Given the description of an element on the screen output the (x, y) to click on. 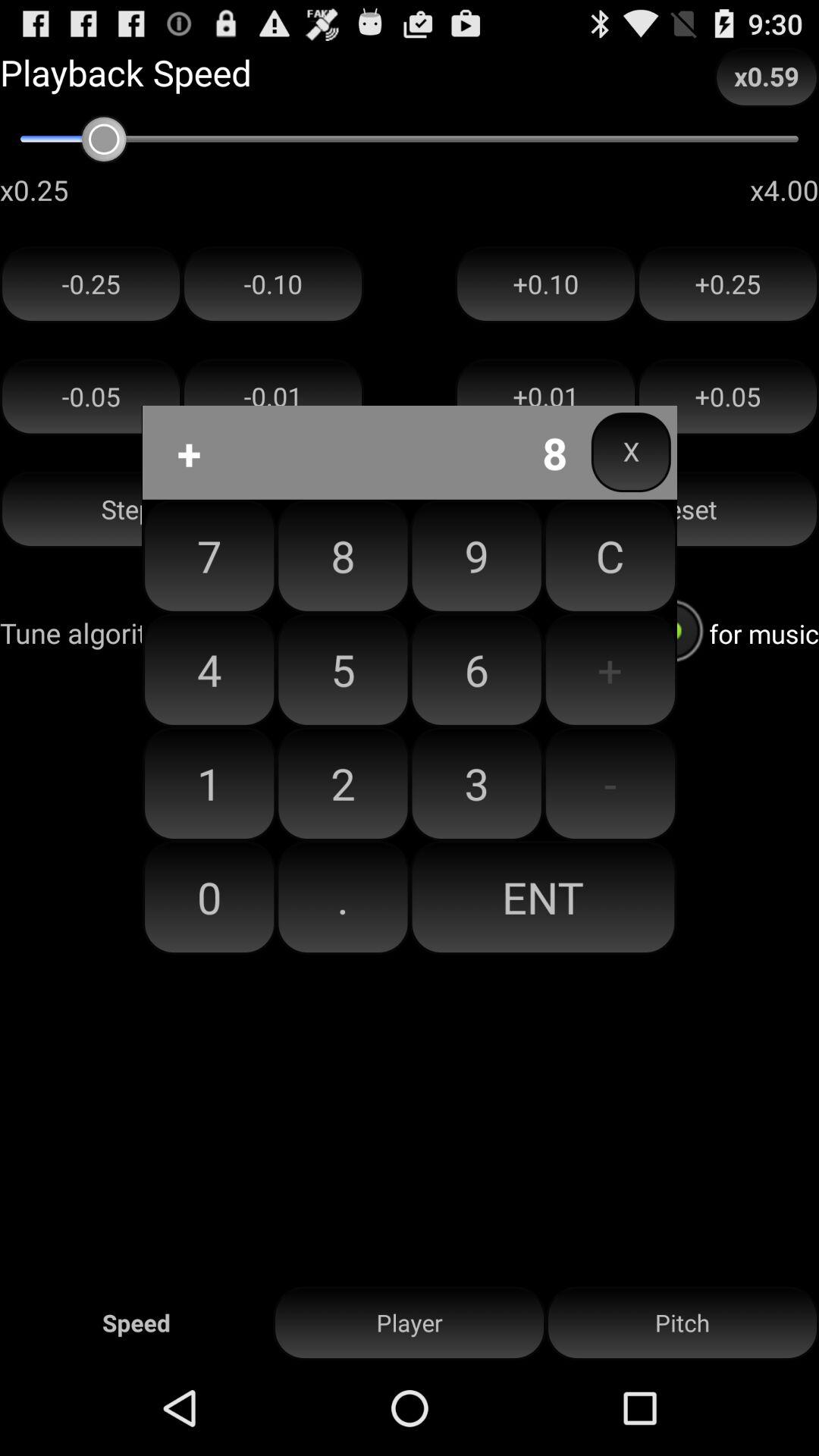
turn on button next to the 9 icon (609, 669)
